Given the description of an element on the screen output the (x, y) to click on. 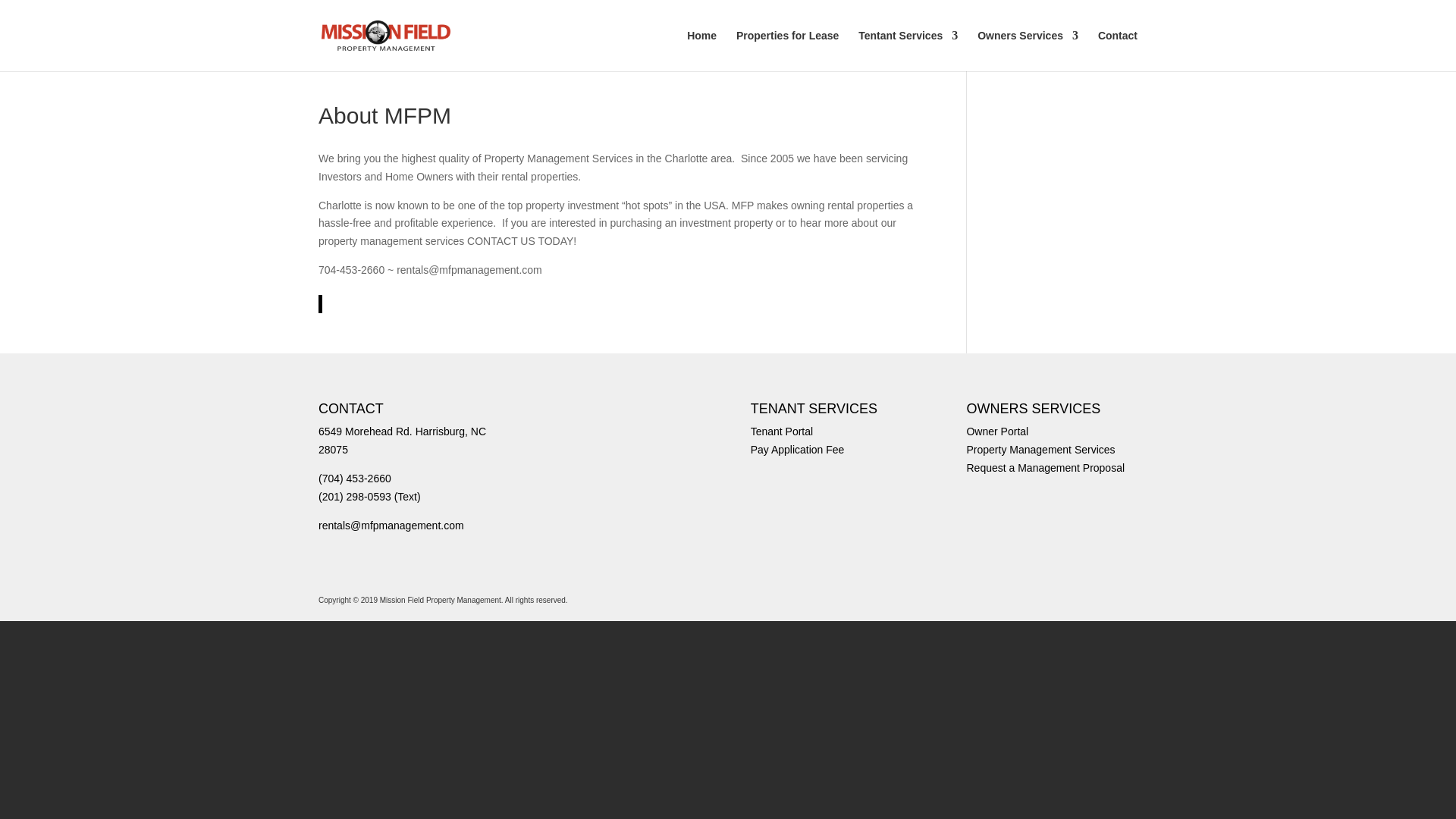
Tenant Portal (782, 431)
Request a Management Proposal (1045, 467)
Property Management Services (1040, 449)
Contact (1117, 50)
Owners Services (1027, 50)
Properties for Lease (787, 50)
Pay Application Fee (797, 449)
Owner Portal (996, 431)
Tentant Services (908, 50)
